Given the description of an element on the screen output the (x, y) to click on. 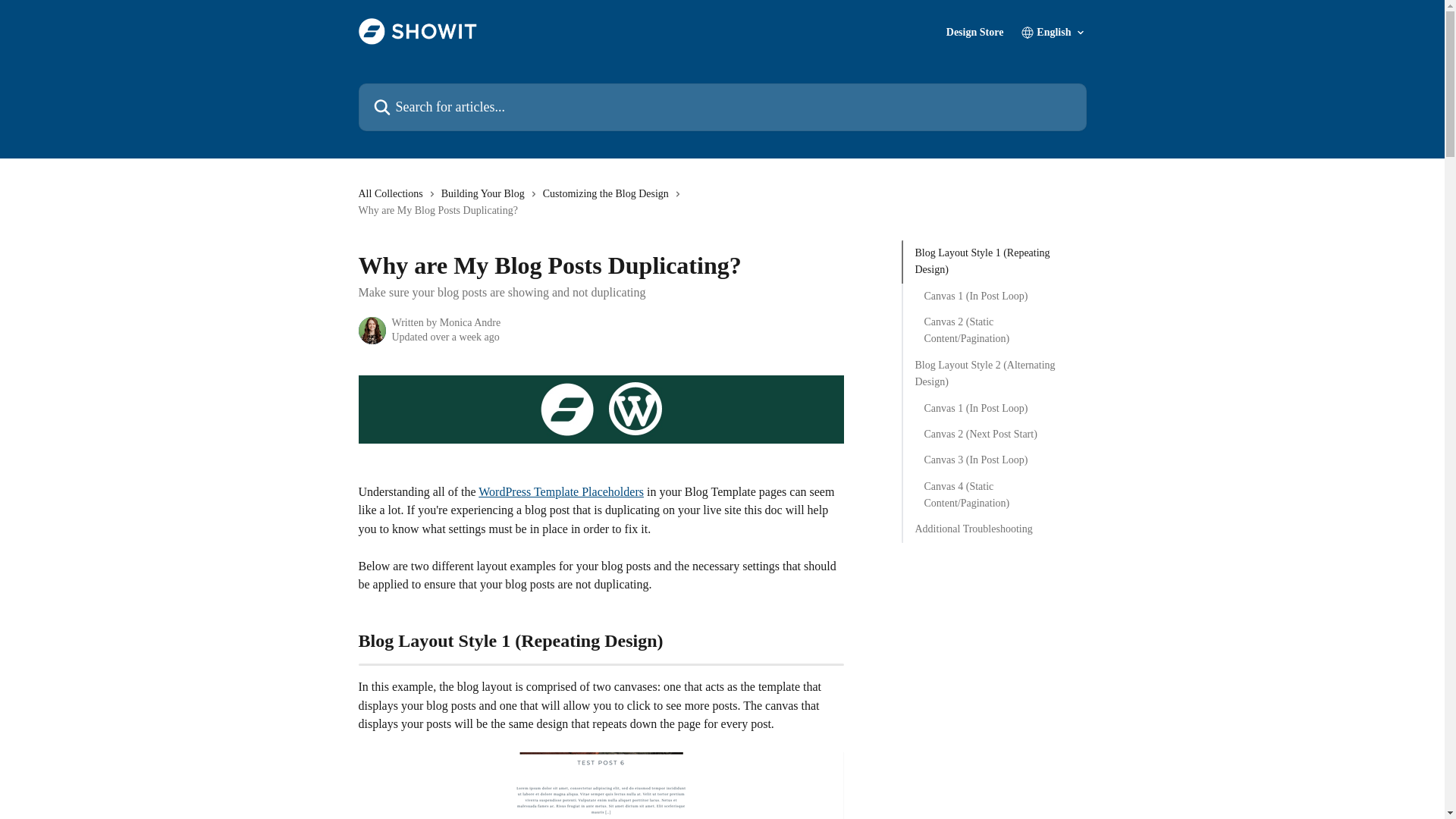
Additional Troubleshooting (994, 528)
Customizing the Blog Design (609, 193)
WordPress Template Placeholders (561, 491)
Building Your Blog (486, 193)
All Collections (393, 193)
Design Store (975, 32)
